Given the description of an element on the screen output the (x, y) to click on. 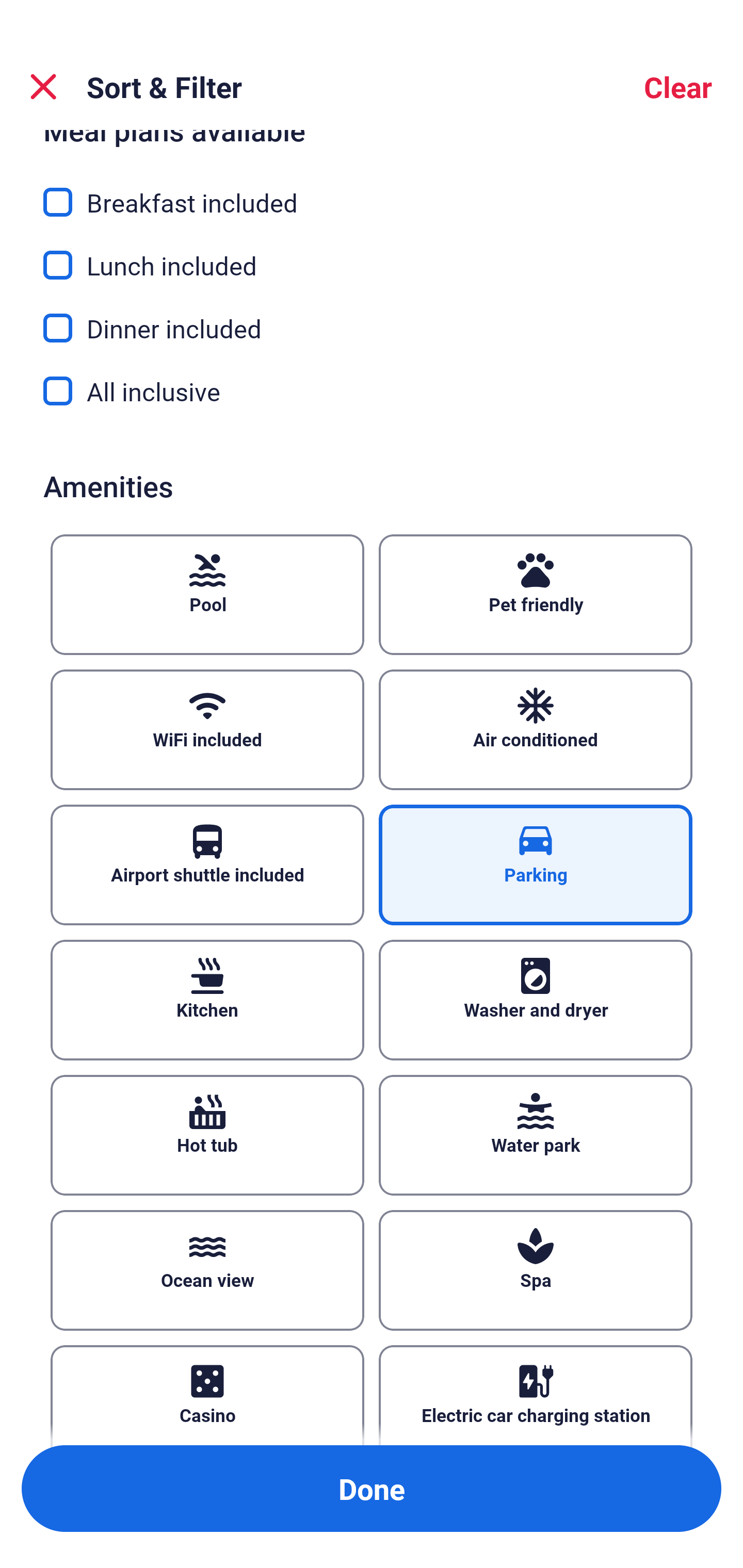
Close Sort and Filter (43, 86)
Clear (677, 86)
Breakfast included, Breakfast included (371, 190)
Lunch included, Lunch included (371, 253)
Dinner included, Dinner included (371, 316)
All inclusive, All inclusive (371, 391)
Pool (207, 594)
Pet friendly (535, 594)
WiFi included (207, 729)
Air conditioned (535, 729)
Airport shuttle included (207, 864)
Parking (535, 864)
Kitchen (207, 999)
Washer and dryer (535, 999)
Hot tub (207, 1134)
Water park (535, 1134)
Ocean view (207, 1270)
Spa (535, 1270)
Casino (207, 1395)
Electric car charging station (535, 1395)
Apply and close Sort and Filter Done (371, 1488)
